Given the description of an element on the screen output the (x, y) to click on. 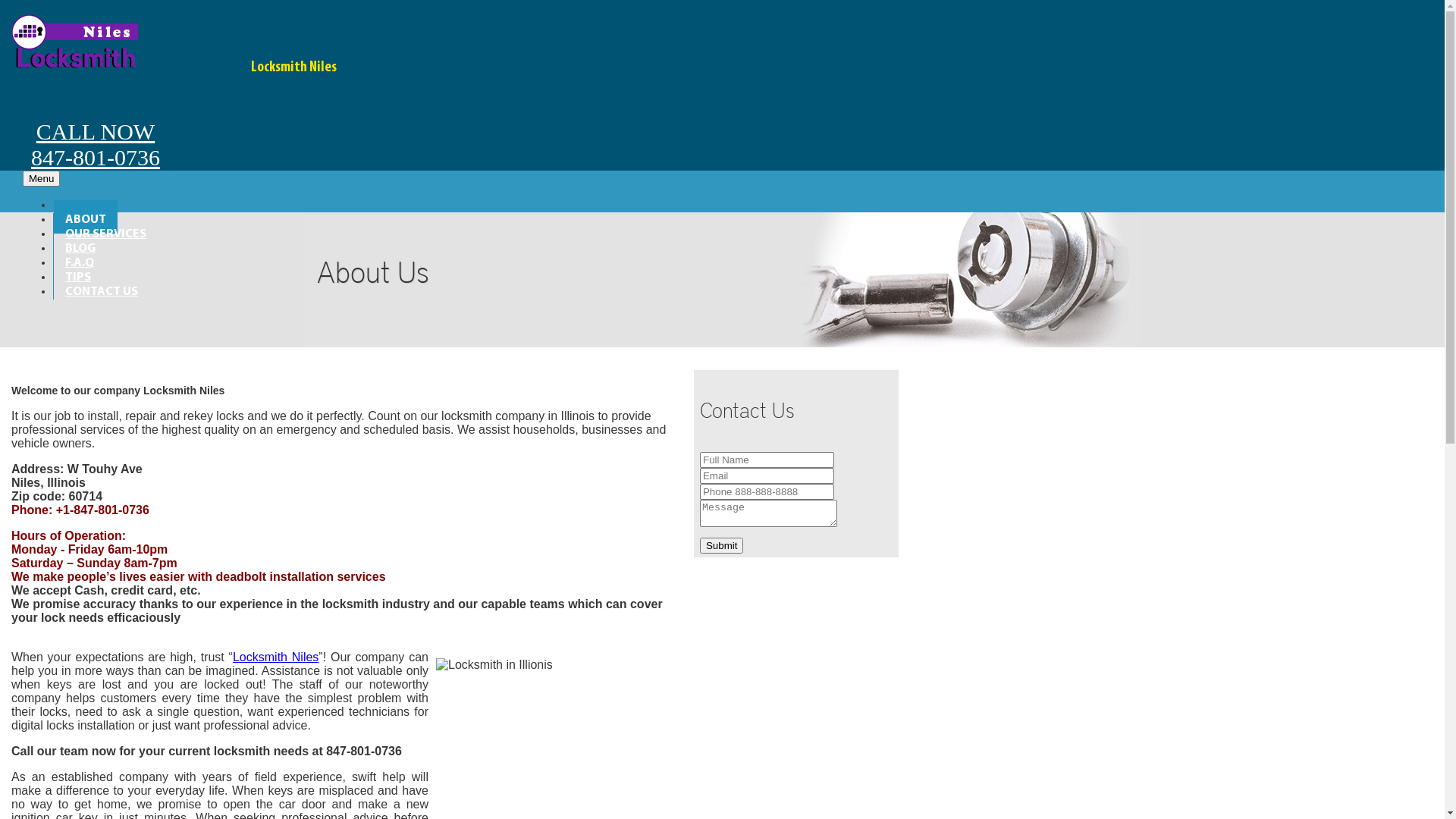
OUR SERVICES Element type: text (105, 230)
Submit Element type: text (721, 545)
HOME Element type: text (81, 202)
CONTACT US Element type: text (101, 288)
F.A.Q Element type: text (79, 259)
ABOUT Element type: text (85, 216)
TIPS Element type: text (77, 274)
Locksmith Niles Element type: text (275, 656)
BLOG Element type: text (79, 245)
CALL NOW
847-801-0736 Element type: text (95, 125)
Menu Element type: text (40, 178)
